Given the description of an element on the screen output the (x, y) to click on. 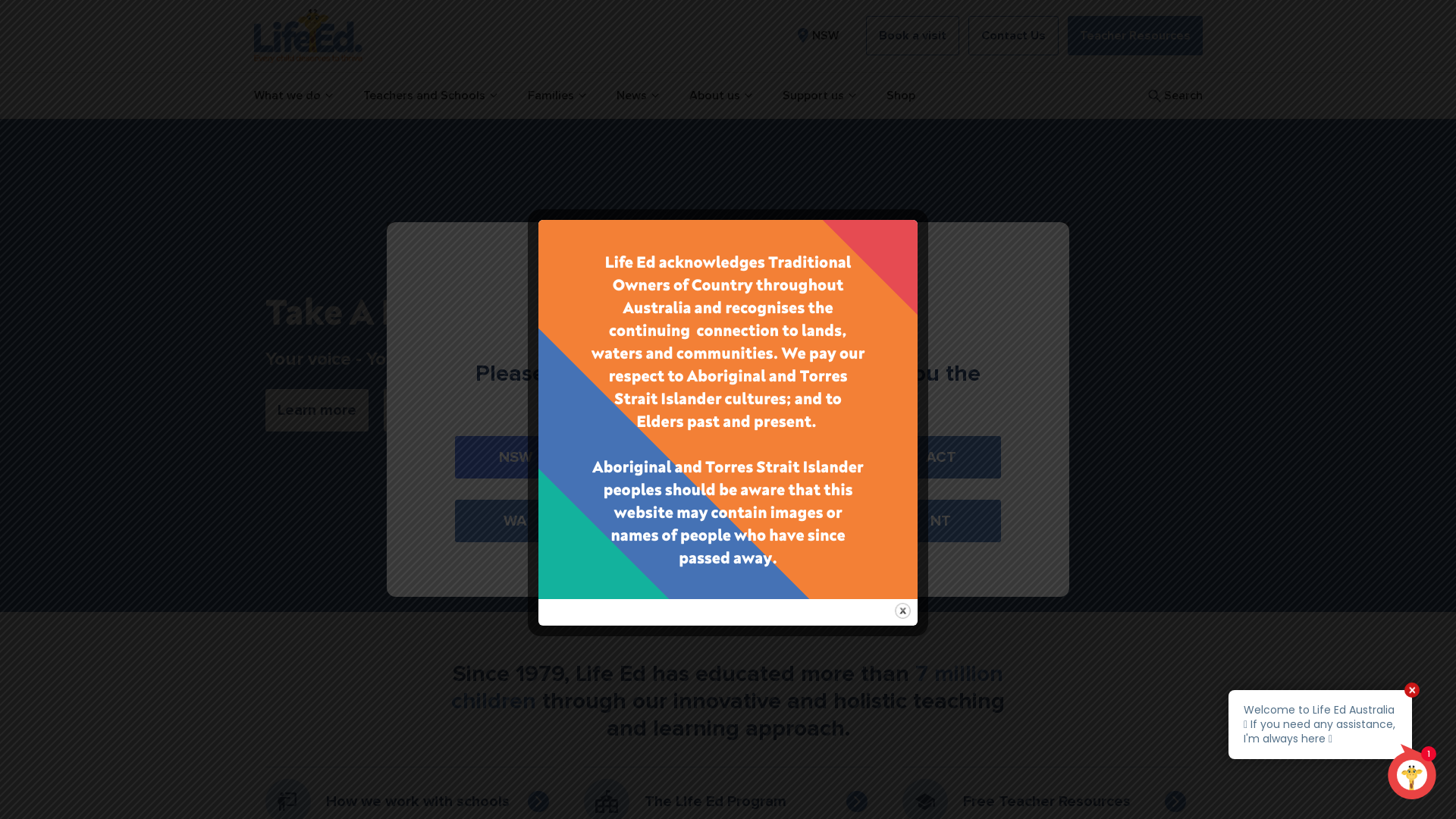
News Element type: text (636, 95)
Support us Element type: text (819, 95)
Families Element type: text (556, 95)
Free Teacher Resources Element type: text (1046, 801)
Learn more Element type: text (316, 410)
Book Now Element type: text (431, 410)
What we do Element type: text (292, 95)
Chat with us Element type: hover (1332, 744)
NSW Element type: text (515, 457)
Book a visit Element type: text (912, 35)
Search Element type: text (1173, 95)
NT Element type: text (940, 520)
Teacher Resources Element type: text (1134, 35)
NSW Element type: text (815, 35)
WA Element type: text (515, 520)
TAS Element type: text (798, 520)
QLD Element type: text (798, 457)
Shop Element type: text (899, 95)
The Life Ed Program Element type: text (727, 801)
Contact Us Element type: text (1012, 35)
SA Element type: text (656, 520)
VIC Element type: text (656, 457)
About us Element type: text (719, 95)
How we work with schools Element type: text (409, 801)
Teachers and Schools Element type: text (429, 95)
ACT Element type: text (940, 457)
